Given the description of an element on the screen output the (x, y) to click on. 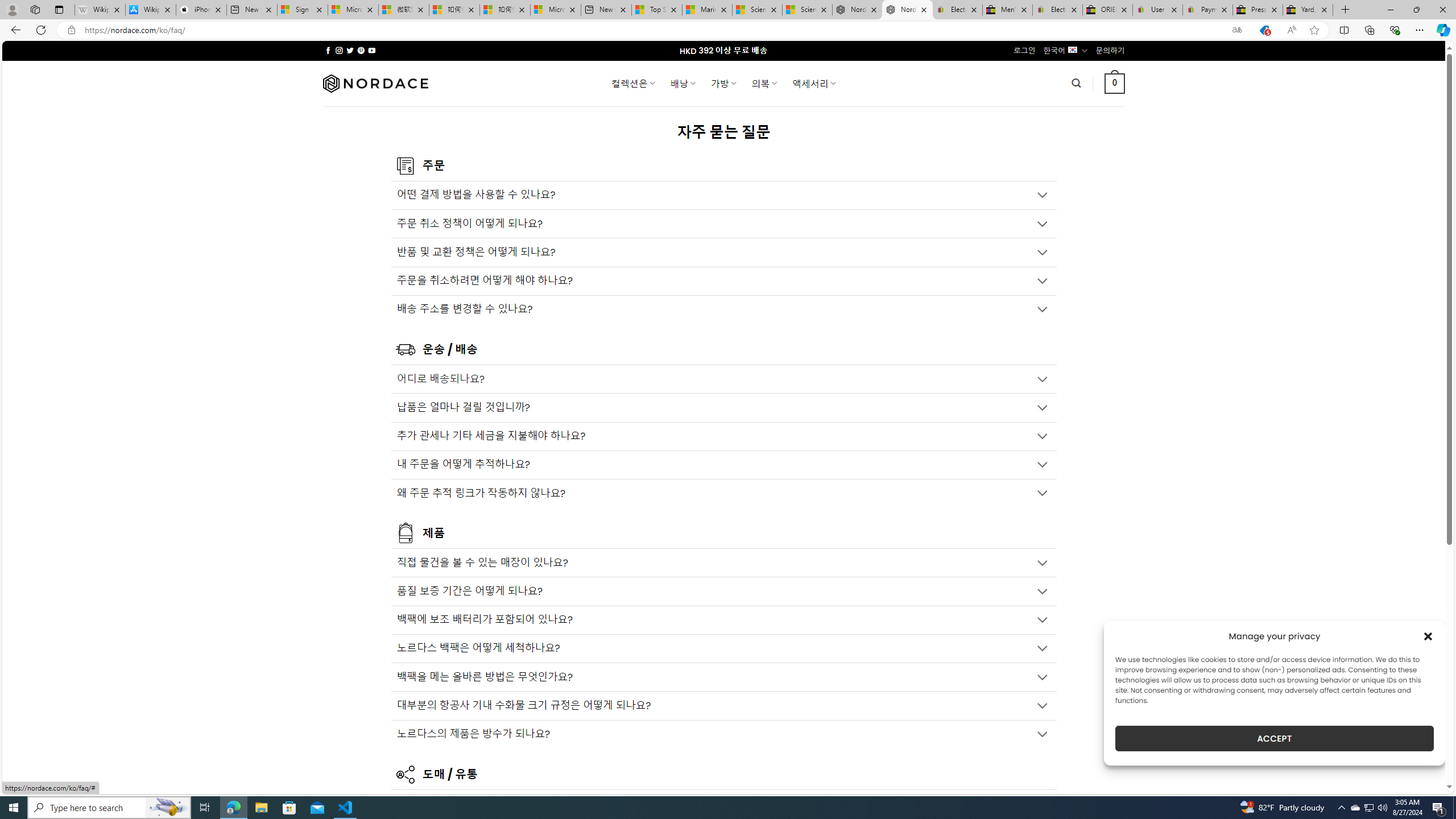
Class: cmplz-close (1428, 636)
 0  (1115, 83)
Yard, Garden & Outdoor Living (1308, 9)
Payments Terms of Use | eBay.com (1207, 9)
